Given the description of an element on the screen output the (x, y) to click on. 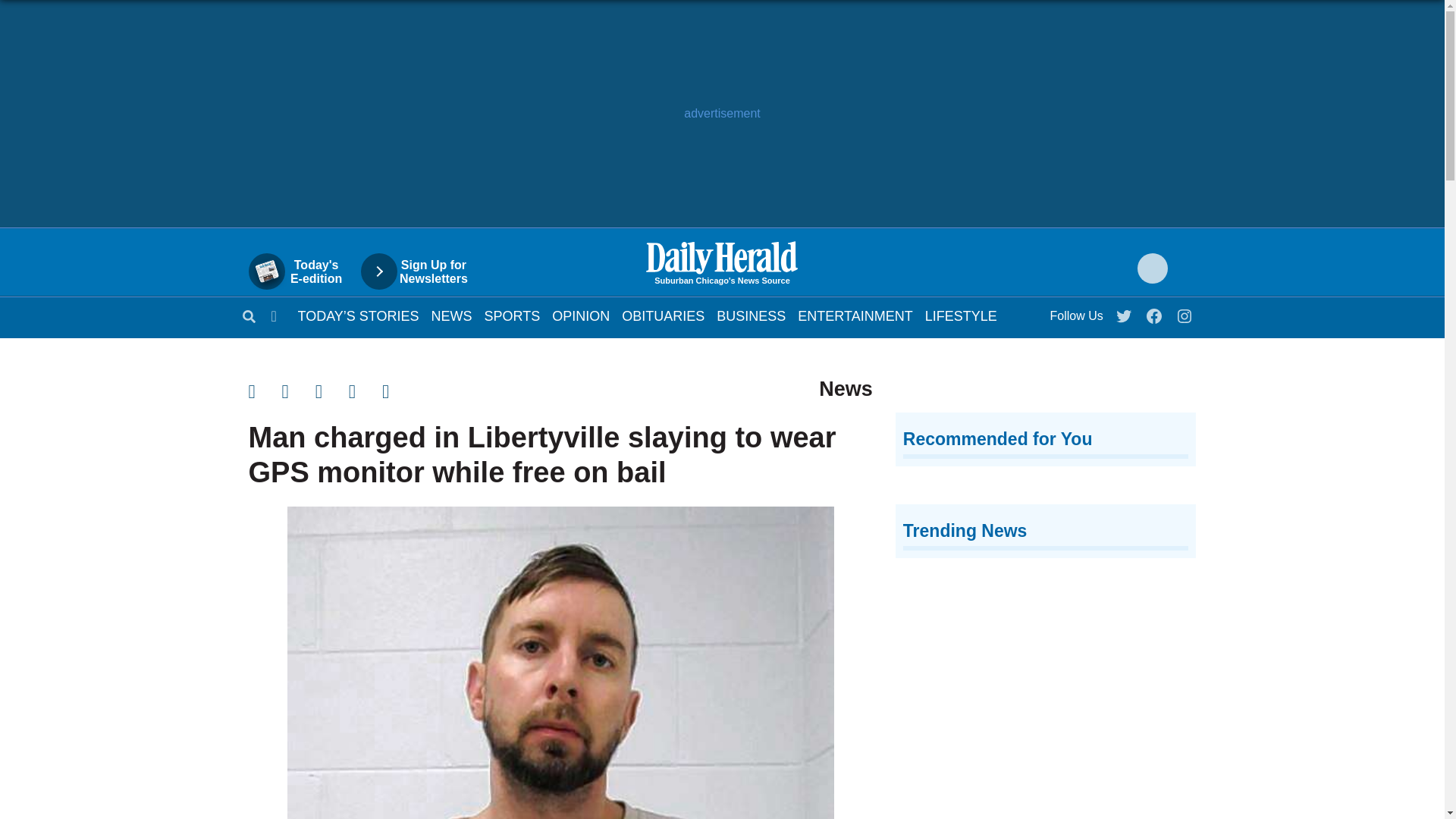
LIFESTYLE (960, 315)
Sign Up for Newsletters (421, 271)
SPORTS (512, 315)
Obituaries (662, 315)
News (450, 315)
OBITUARIES (662, 315)
Lifestyle (960, 315)
OPINION (580, 315)
Twitter (1124, 312)
NEWS (450, 315)
